Given the description of an element on the screen output the (x, y) to click on. 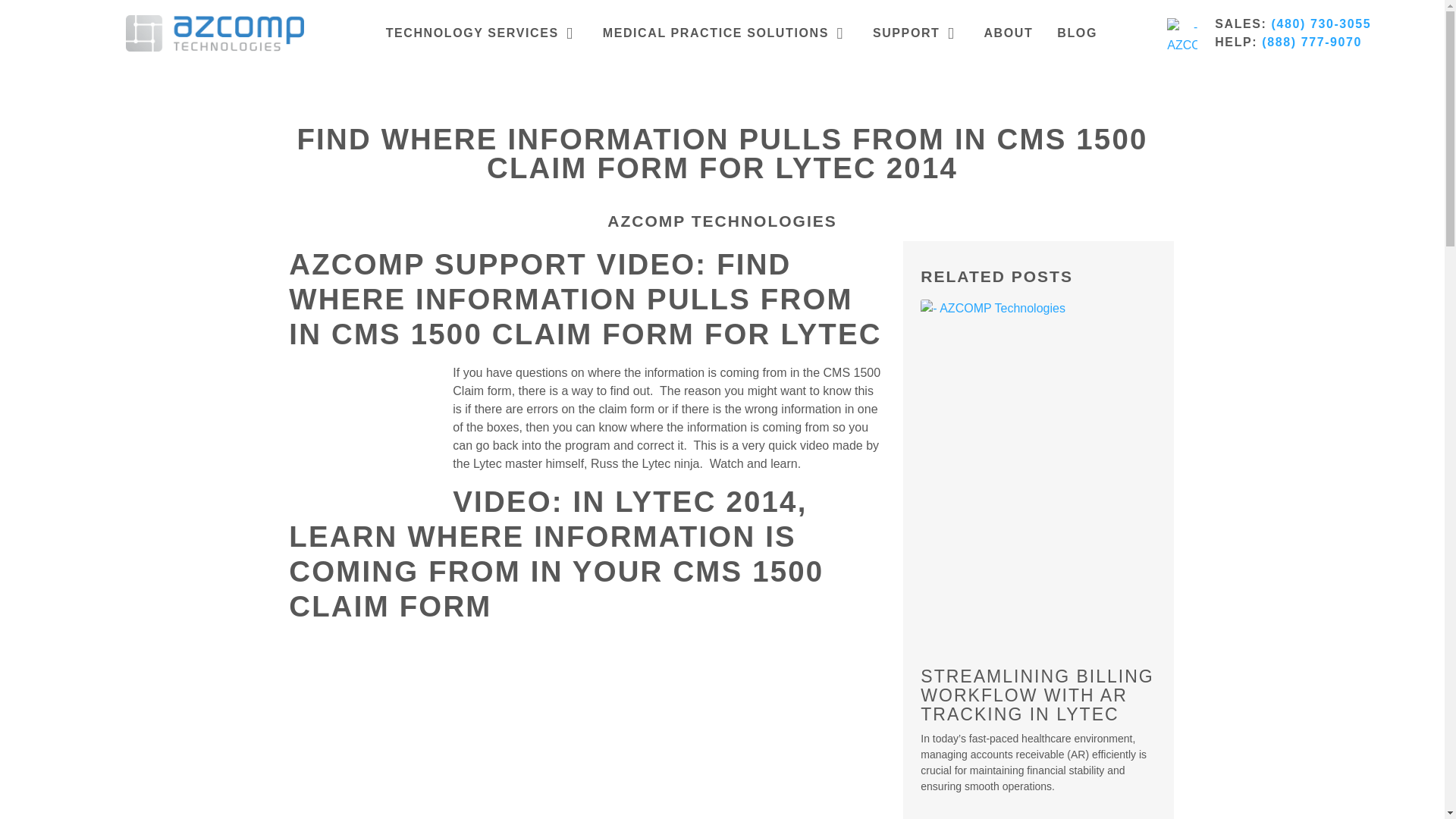
 - AZCOMP Technologies (364, 439)
SUPPORT (906, 33)
MEDICAL PRACTICE SOLUTIONS (715, 33)
TECHNOLOGY SERVICES (472, 33)
SalesIcon - AZCOMP Technologies (1181, 33)
ABOUT (1008, 33)
ar tracking tool featured image - AZCOMP Technologies (1038, 416)
BLOG (1077, 33)
azcomp-lg-logo - AZCOMP Technologies (214, 33)
